Given the description of an element on the screen output the (x, y) to click on. 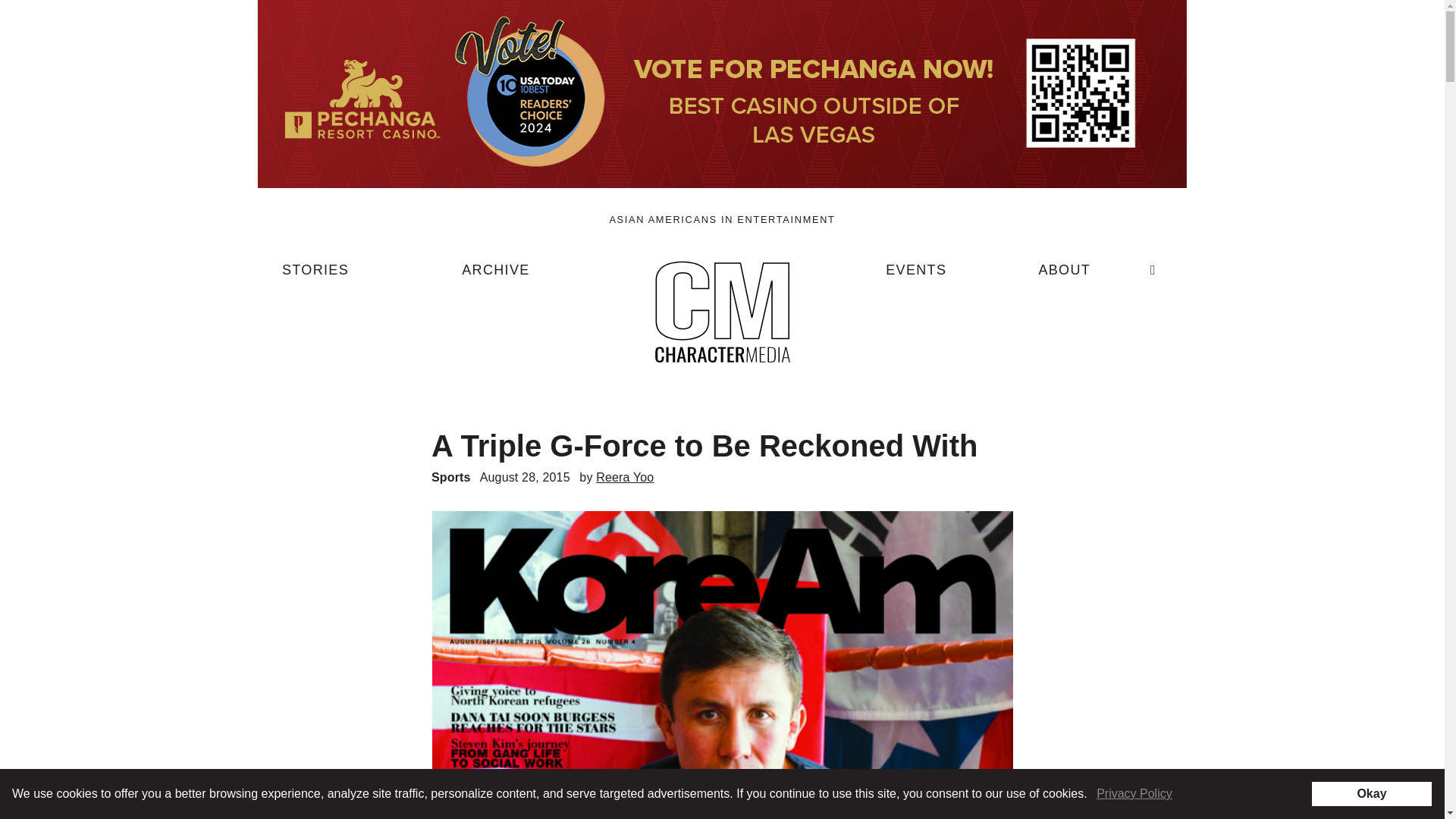
Sports (450, 477)
Reera Yoo (624, 477)
STORIES (315, 276)
ARCHIVE (495, 276)
EVENTS (915, 276)
ABOUT (1064, 276)
